Given the description of an element on the screen output the (x, y) to click on. 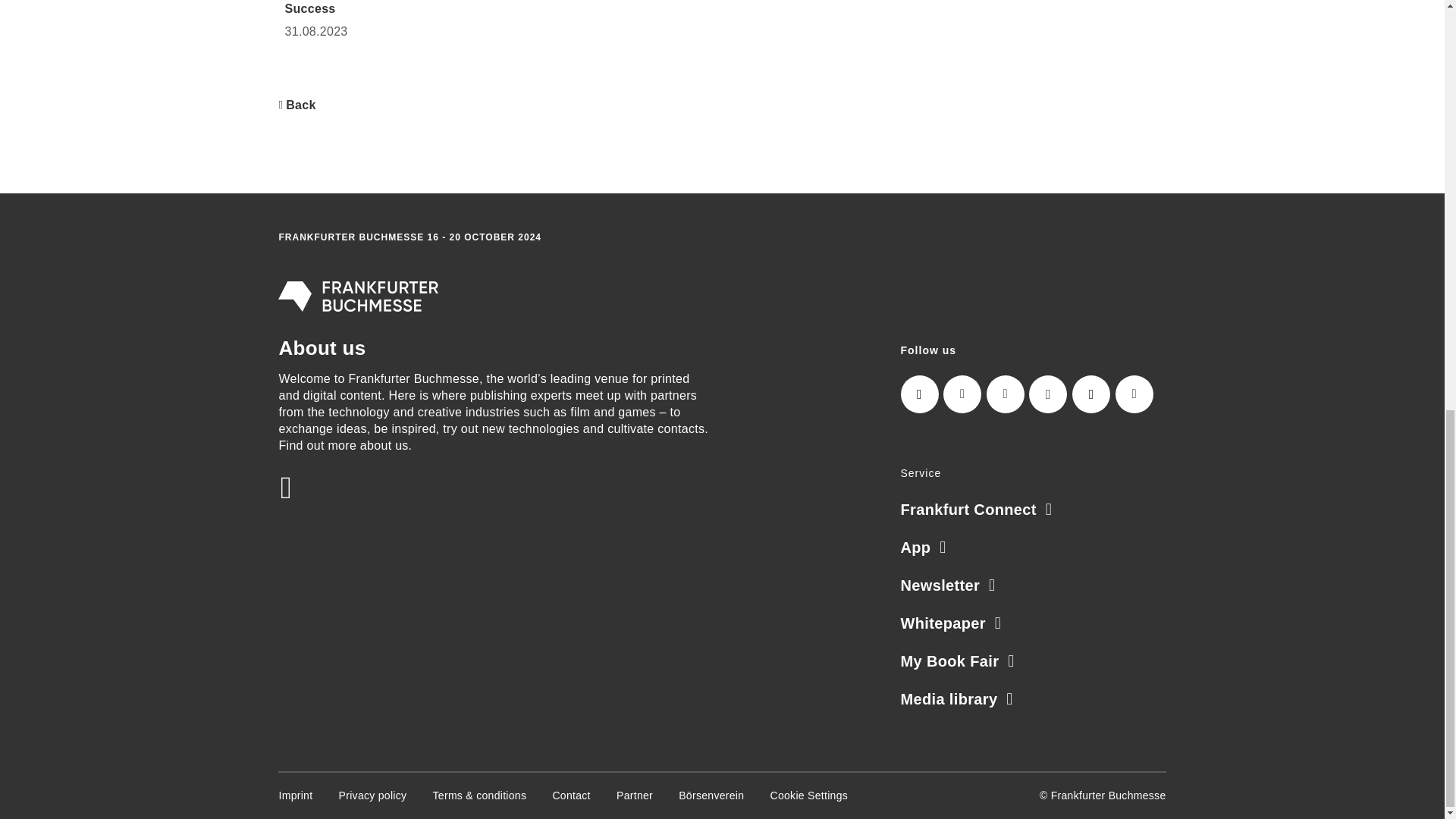
Newsletter (948, 585)
Whitepaper (951, 622)
Youtube (1134, 394)
Facebook (1048, 394)
Back (296, 105)
Media library (957, 698)
App (923, 547)
Frankfurt Connect (976, 508)
Twitter (1006, 394)
My Book Fair (957, 661)
LinkedIn (962, 394)
TikTok (1090, 394)
Instagram (920, 394)
